Given the description of an element on the screen output the (x, y) to click on. 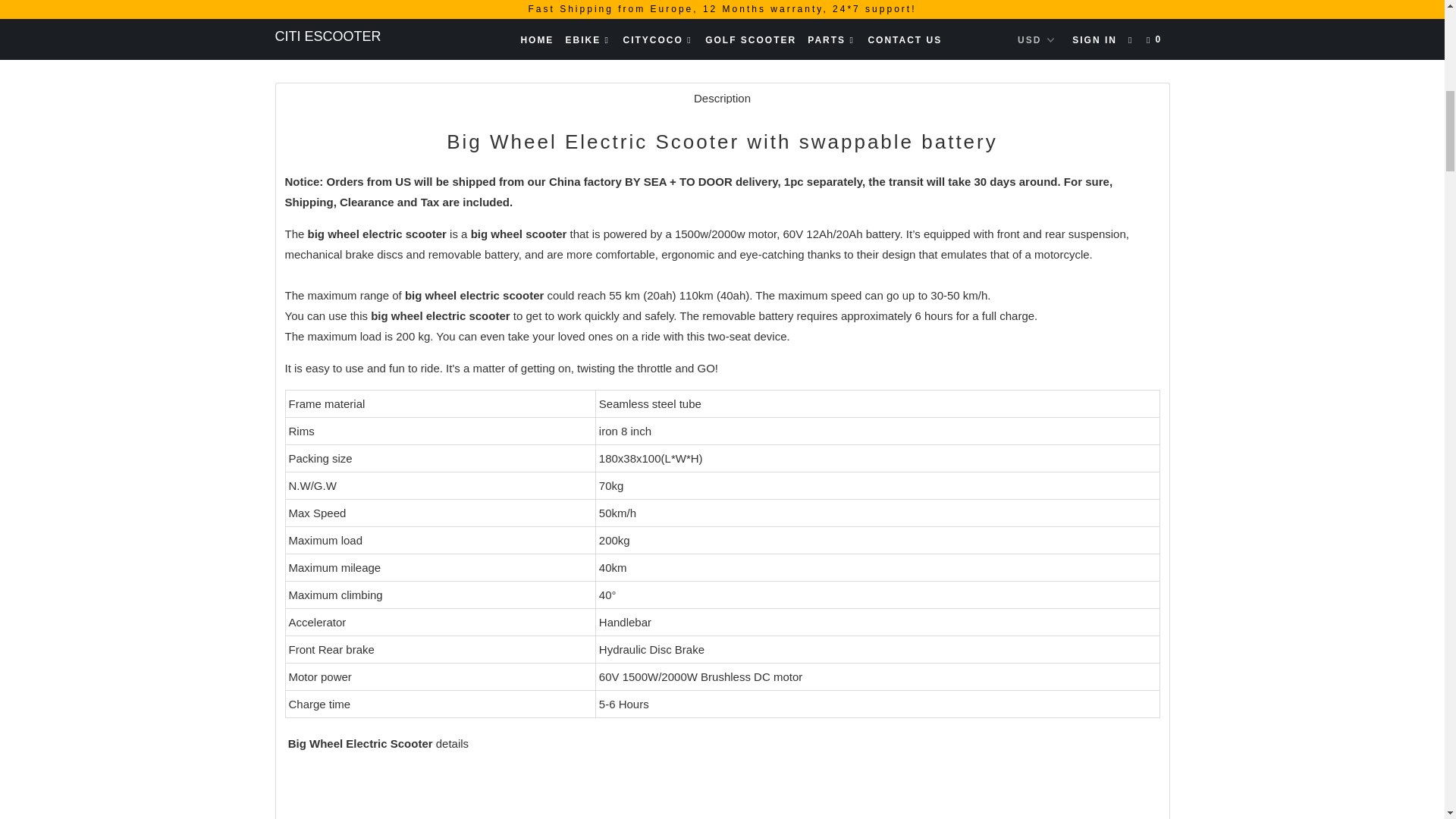
Big Wheel Electric Scooter (473, 295)
